Given the description of an element on the screen output the (x, y) to click on. 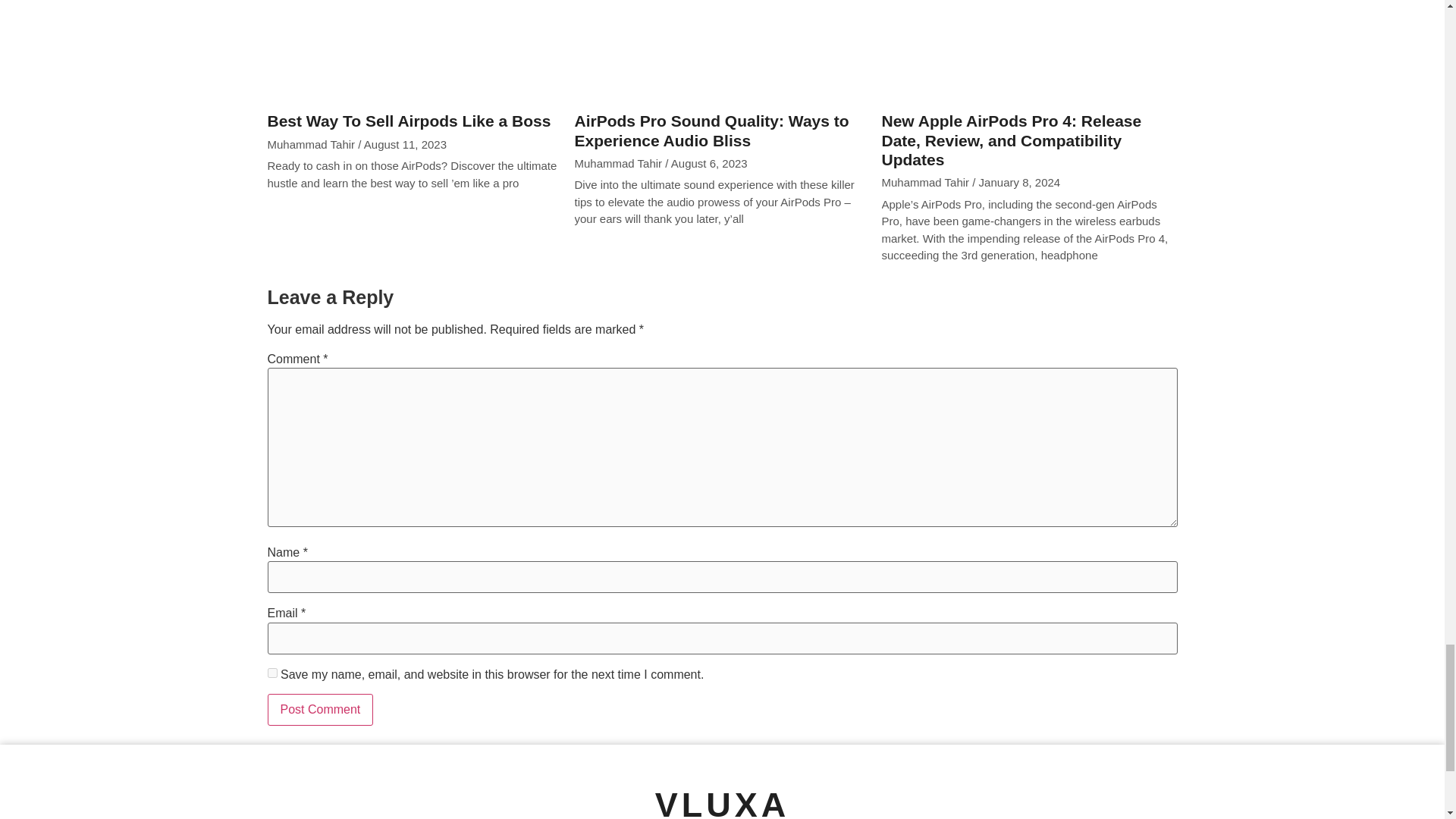
Post Comment (319, 709)
yes (271, 673)
